Given the description of an element on the screen output the (x, y) to click on. 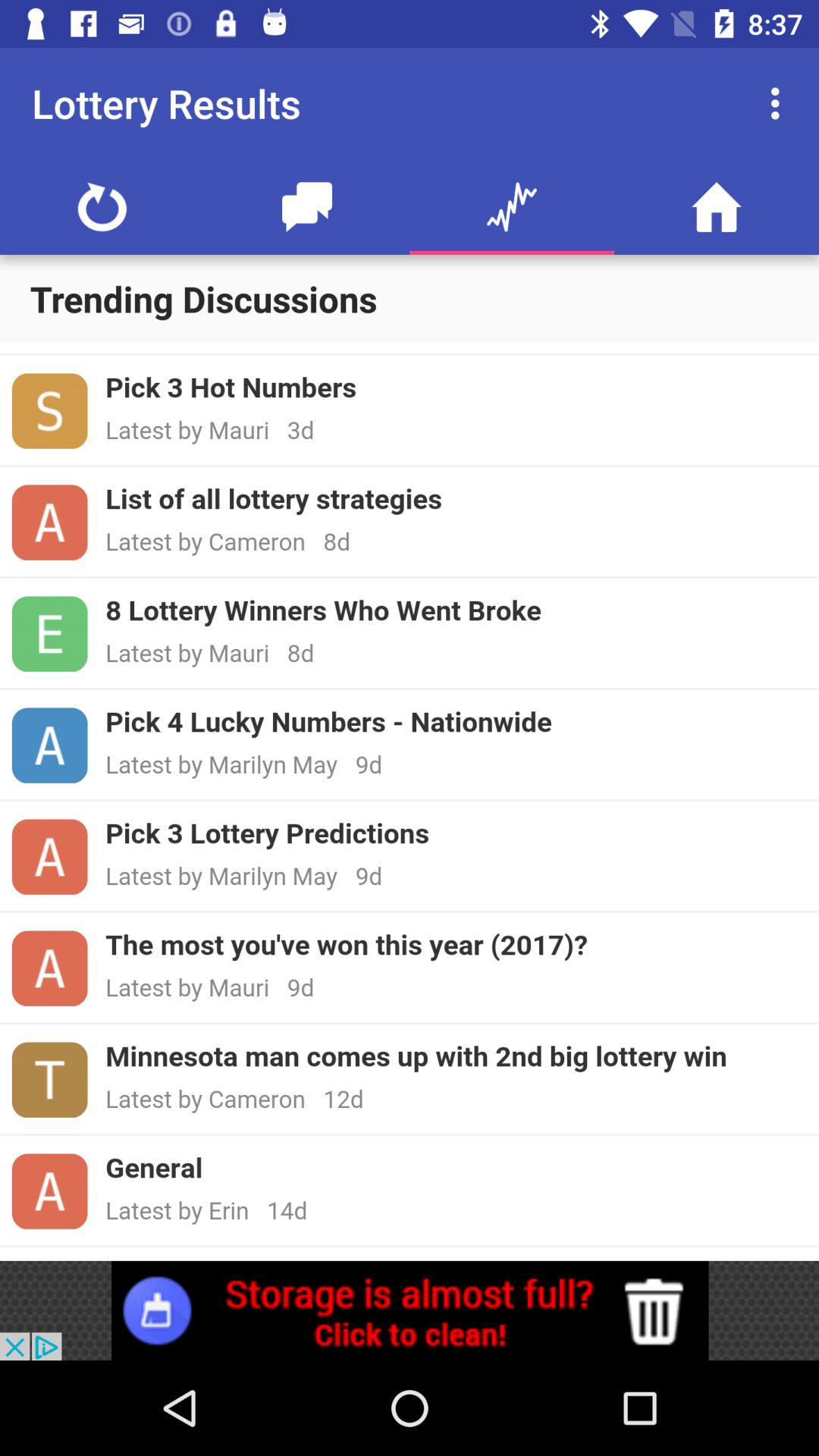
click the advertisement (409, 1310)
